Given the description of an element on the screen output the (x, y) to click on. 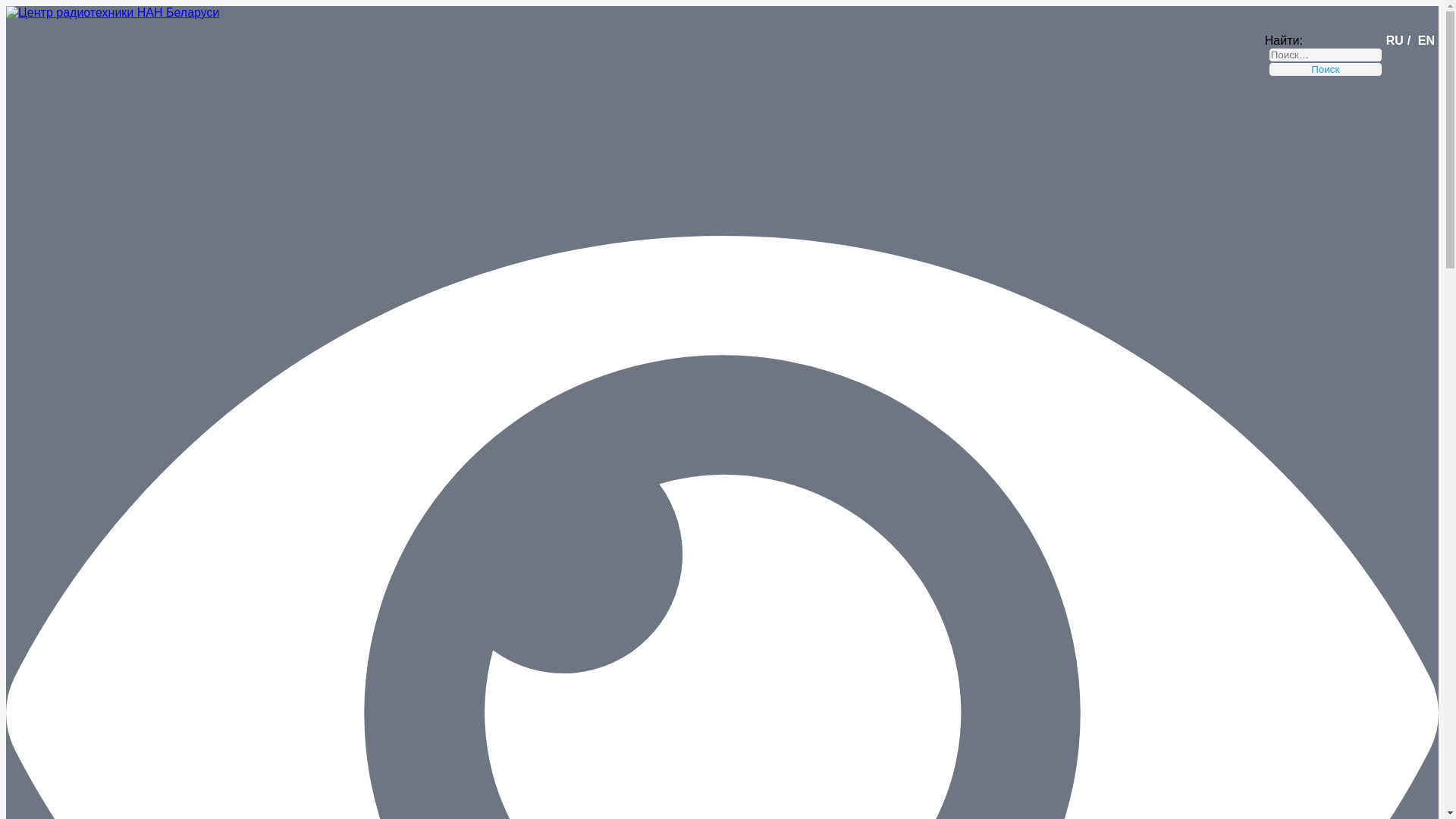
EN Element type: text (1426, 40)
RU Element type: text (1394, 40)
